Given the description of an element on the screen output the (x, y) to click on. 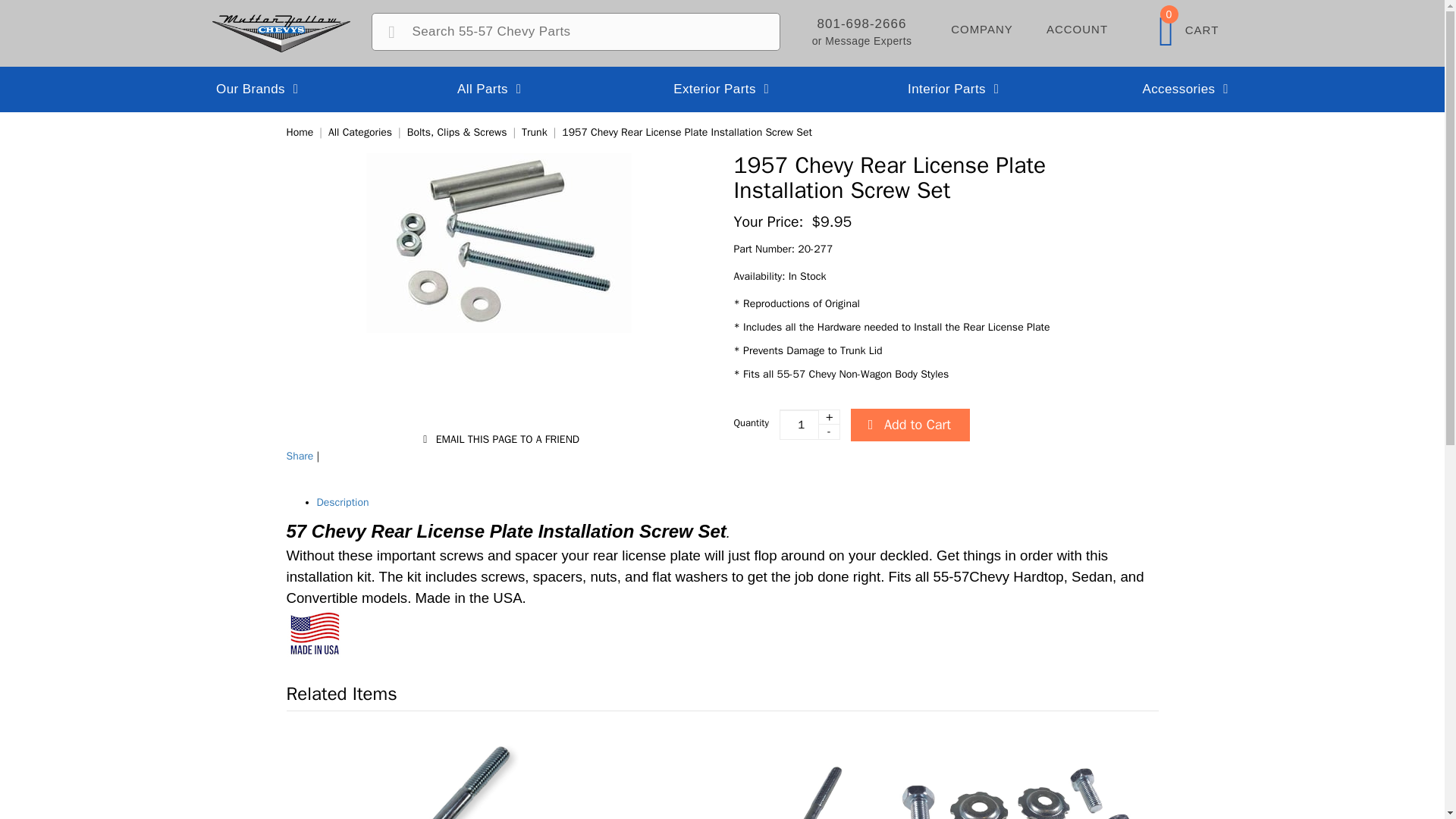
COMPANY (981, 26)
1 (809, 424)
EMAIL THIS PAGE TO A FRIEND (497, 439)
Exterior Parts (721, 89)
1957 Chevy Rear License Plate Installation Screw Set (687, 132)
Our Brands (257, 89)
Trunk (534, 132)
Share (300, 455)
All Categories (360, 132)
Interior Parts (954, 89)
